Given the description of an element on the screen output the (x, y) to click on. 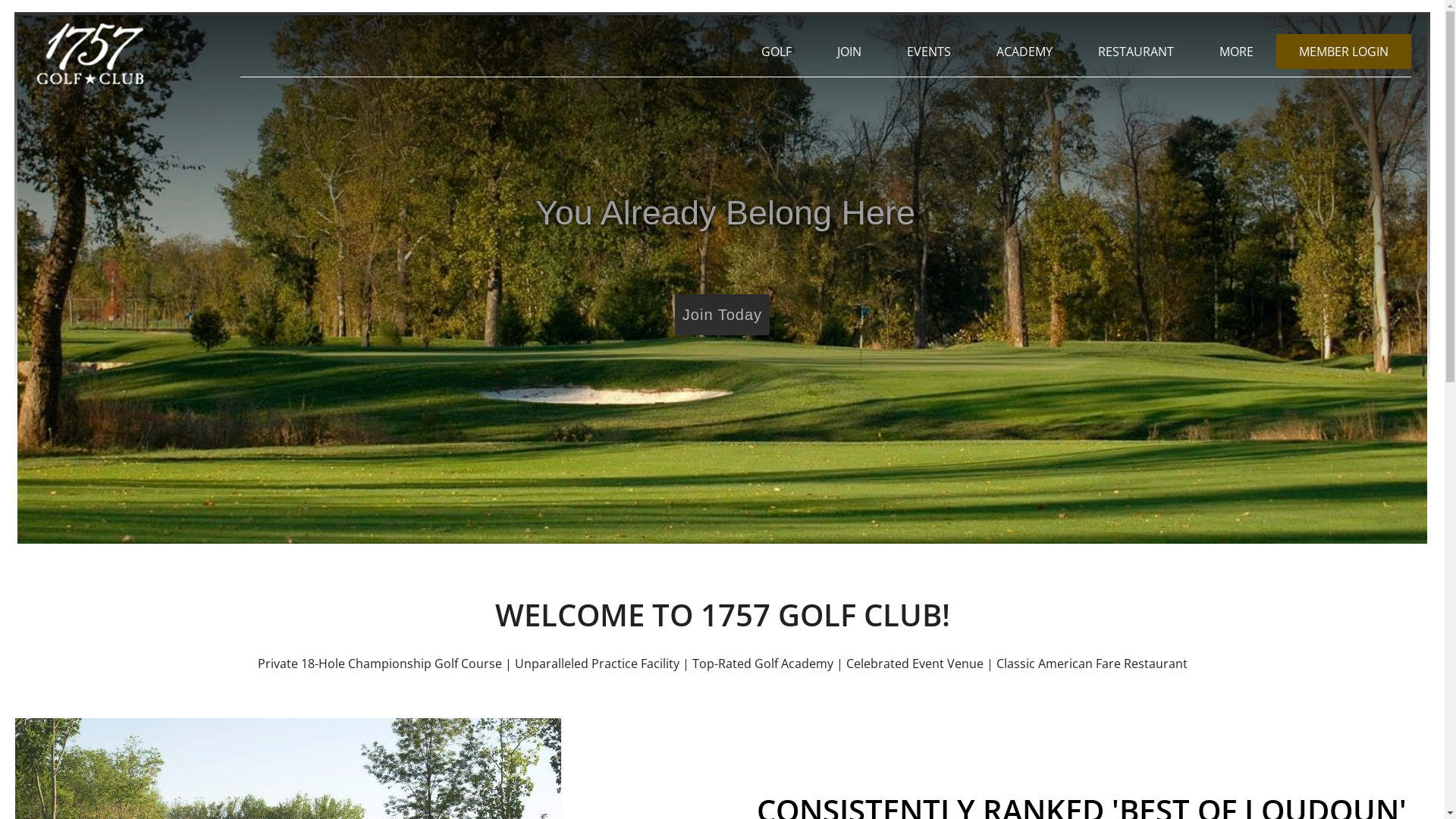
MORE Element type: text (1236, 50)
MEMBER LOGIN Element type: text (1343, 50)
GOLF Element type: text (776, 50)
JOIN Element type: text (849, 50)
EVENTS Element type: text (928, 50)
ACADEMY Element type: text (1024, 50)
RESTAURANT Element type: text (1135, 50)
Home Element type: hover (89, 79)
You Already Belong Here Element type: hover (722, 279)
